Given the description of an element on the screen output the (x, y) to click on. 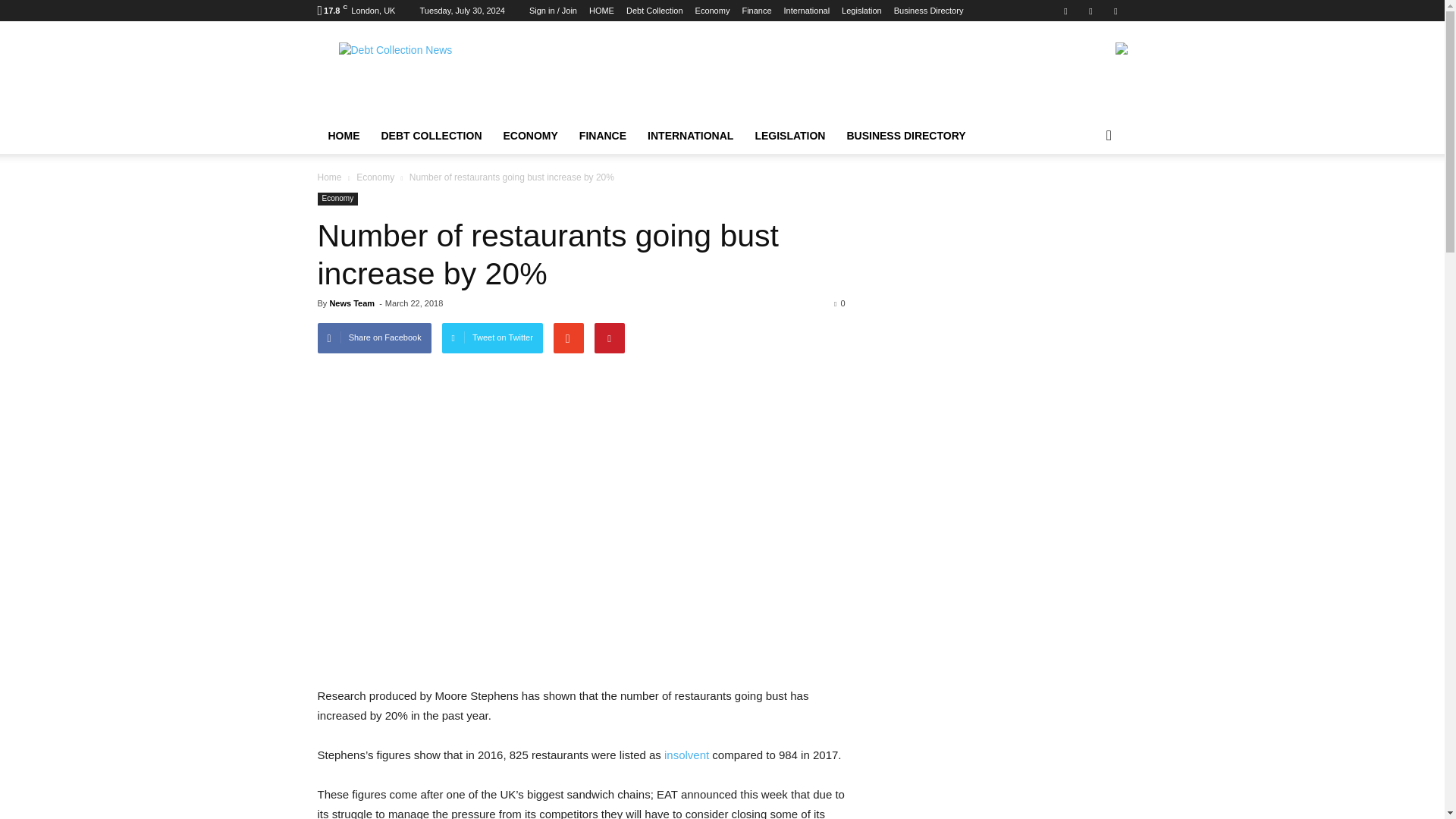
International (806, 10)
HOME (601, 10)
Twitter (1090, 10)
Facebook (1065, 10)
Legislation (861, 10)
HOME (343, 135)
Business Directory (928, 10)
Economy (712, 10)
View all posts in Economy (375, 176)
Youtube (1114, 10)
Finance (756, 10)
Debt Collection (654, 10)
